Given the description of an element on the screen output the (x, y) to click on. 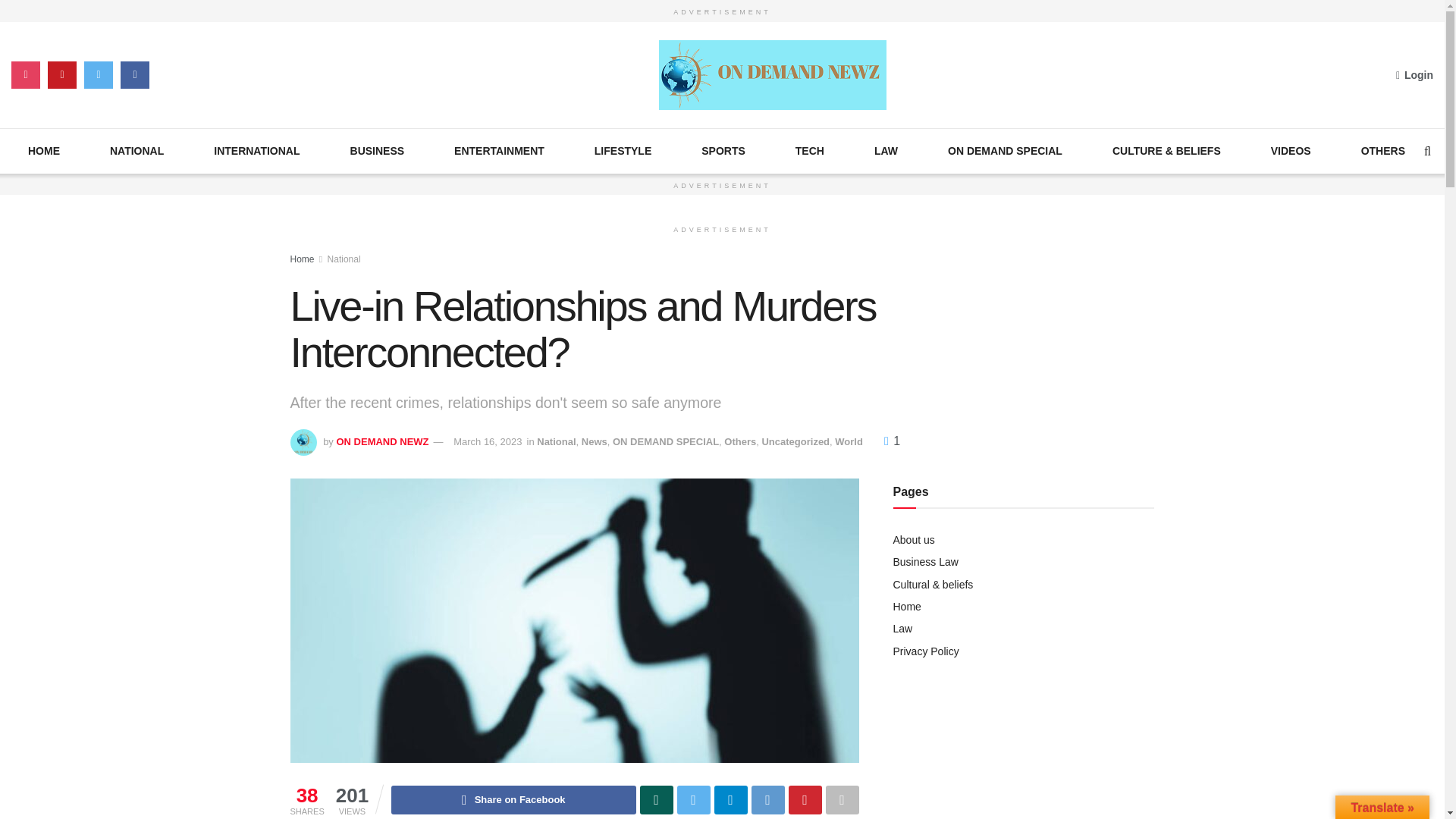
VIDEOS (1291, 149)
OTHERS (1383, 149)
Login (1414, 75)
NATIONAL (136, 149)
ON DEMAND SPECIAL (1004, 149)
SPORTS (723, 149)
HOME (43, 149)
ENTERTAINMENT (499, 149)
LAW (886, 149)
BUSINESS (377, 149)
INTERNATIONAL (256, 149)
LIFESTYLE (622, 149)
TECH (809, 149)
